Given the description of an element on the screen output the (x, y) to click on. 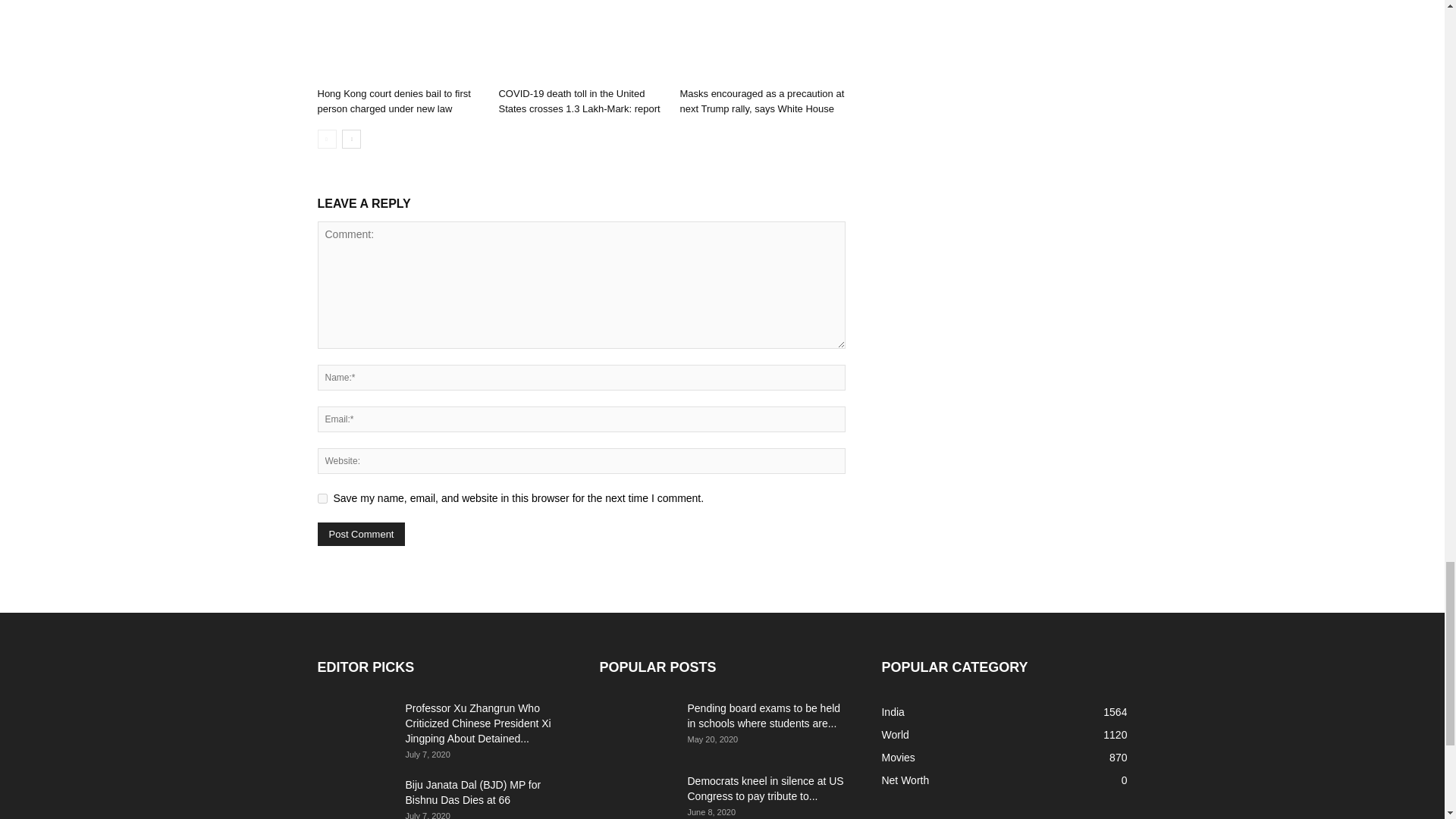
yes (321, 498)
Post Comment (360, 534)
